Given the description of an element on the screen output the (x, y) to click on. 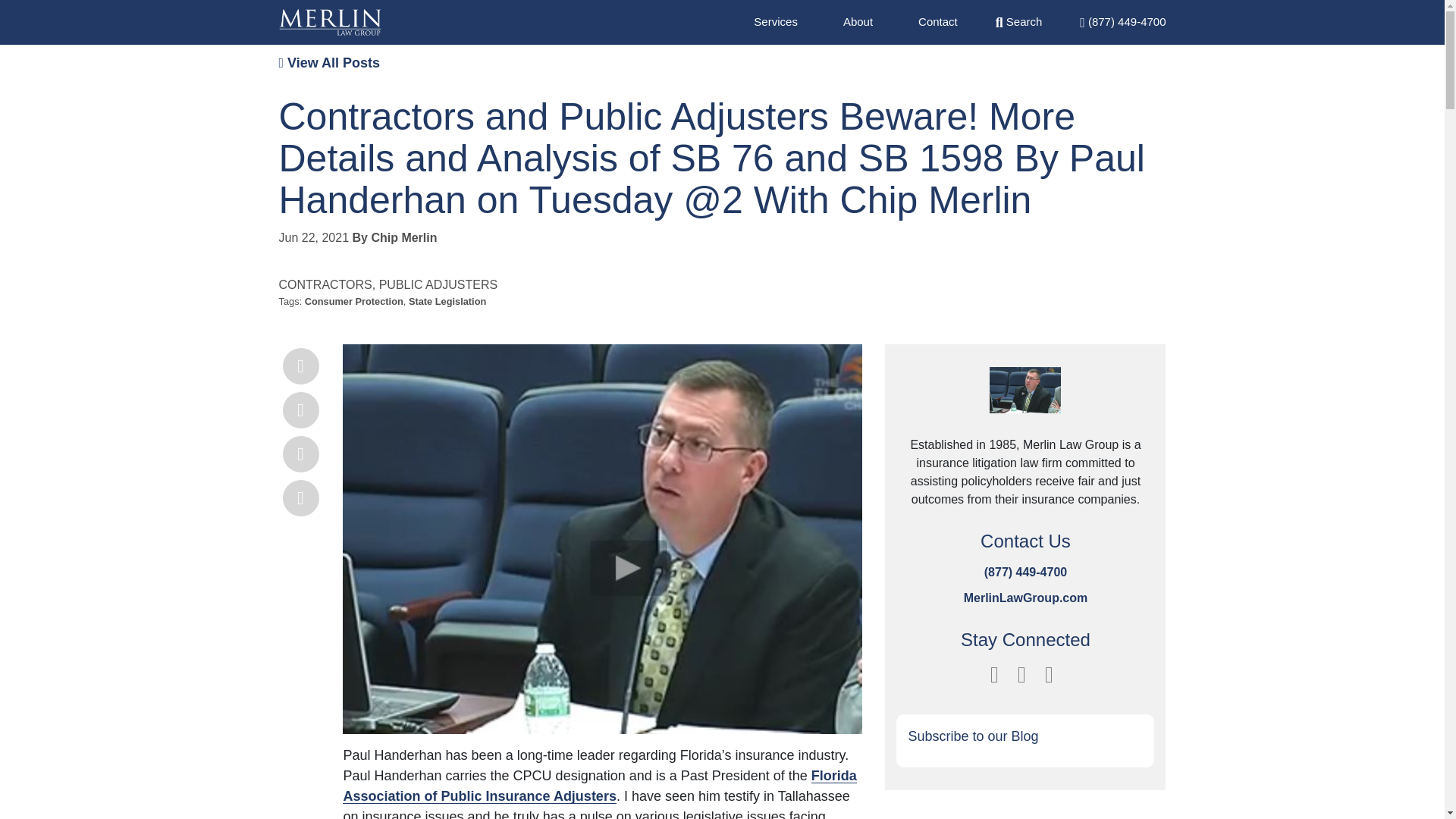
MerlinLawGroup.com (1025, 597)
Property Insurance Coverage Law Blog (1025, 400)
Search (1018, 21)
Consumer Protection (353, 301)
Services (775, 21)
Search (1018, 21)
CONTRACTORS (325, 284)
By Chip Merlin (394, 237)
View All Posts (329, 62)
Contact (938, 21)
PUBLIC ADJUSTERS (437, 284)
Property Insurance Coverage Law Blog (330, 22)
State Legislation (447, 301)
About (857, 21)
Menu (1123, 21)
